Given the description of an element on the screen output the (x, y) to click on. 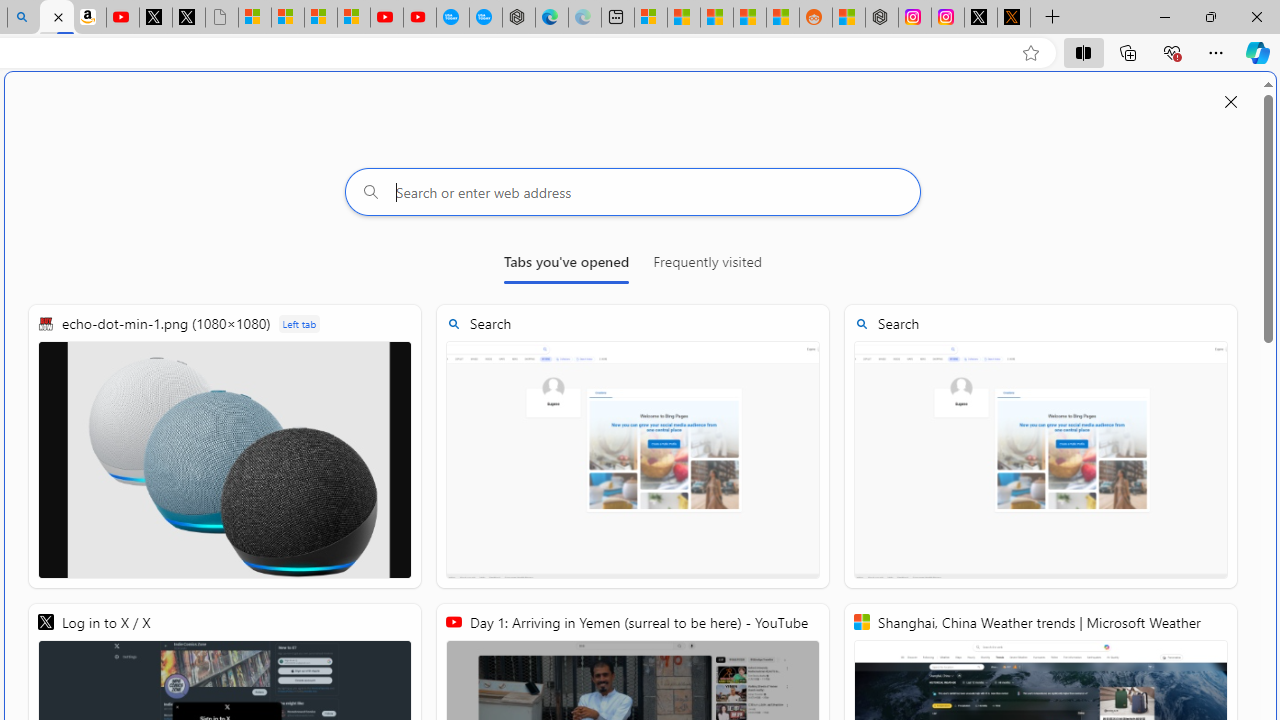
Shanghai, China Weather trends | Microsoft Weather (782, 17)
Nordace - Summer Adventures 2024 (882, 17)
Gloom - YouTube (387, 17)
Frequently visited (707, 265)
help.x.com | 524: A timeout occurred (1014, 17)
Microsoft account | Microsoft Account Privacy Settings (650, 17)
Nordace - Nordace has arrived Hong Kong (519, 17)
